Given the description of an element on the screen output the (x, y) to click on. 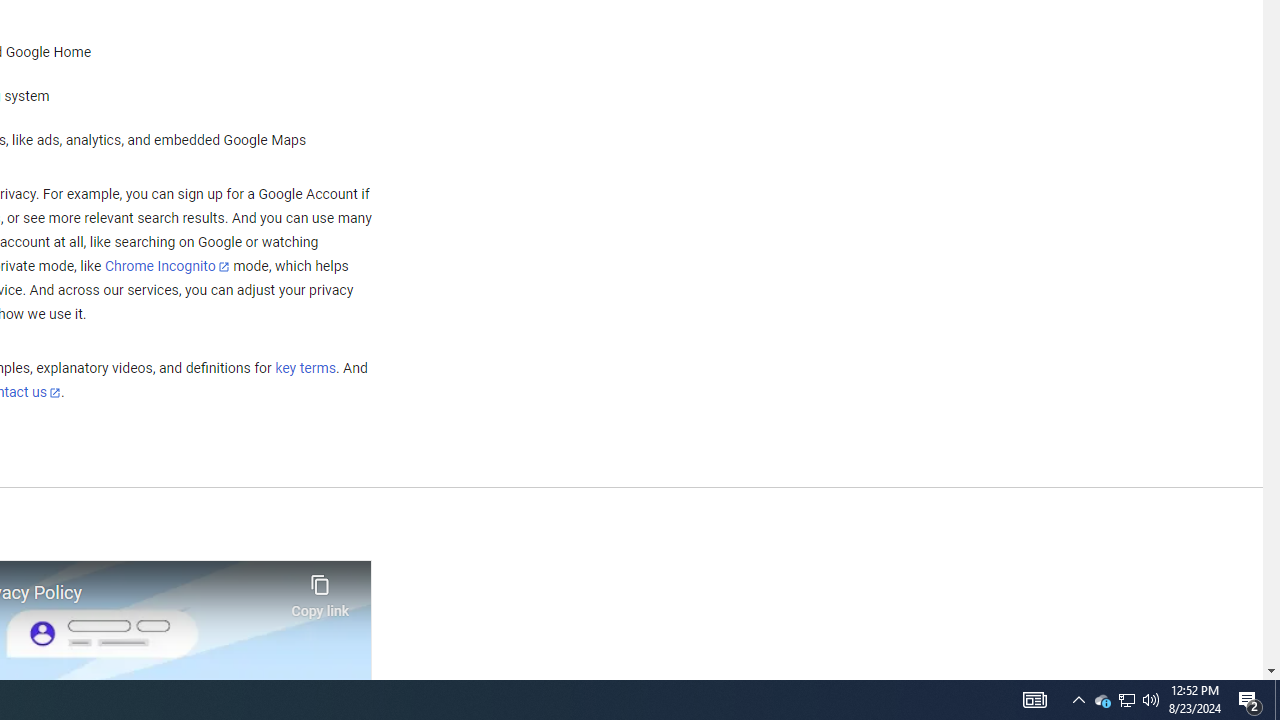
Chrome Incognito (166, 266)
key terms (305, 369)
Copy link (319, 591)
